Given the description of an element on the screen output the (x, y) to click on. 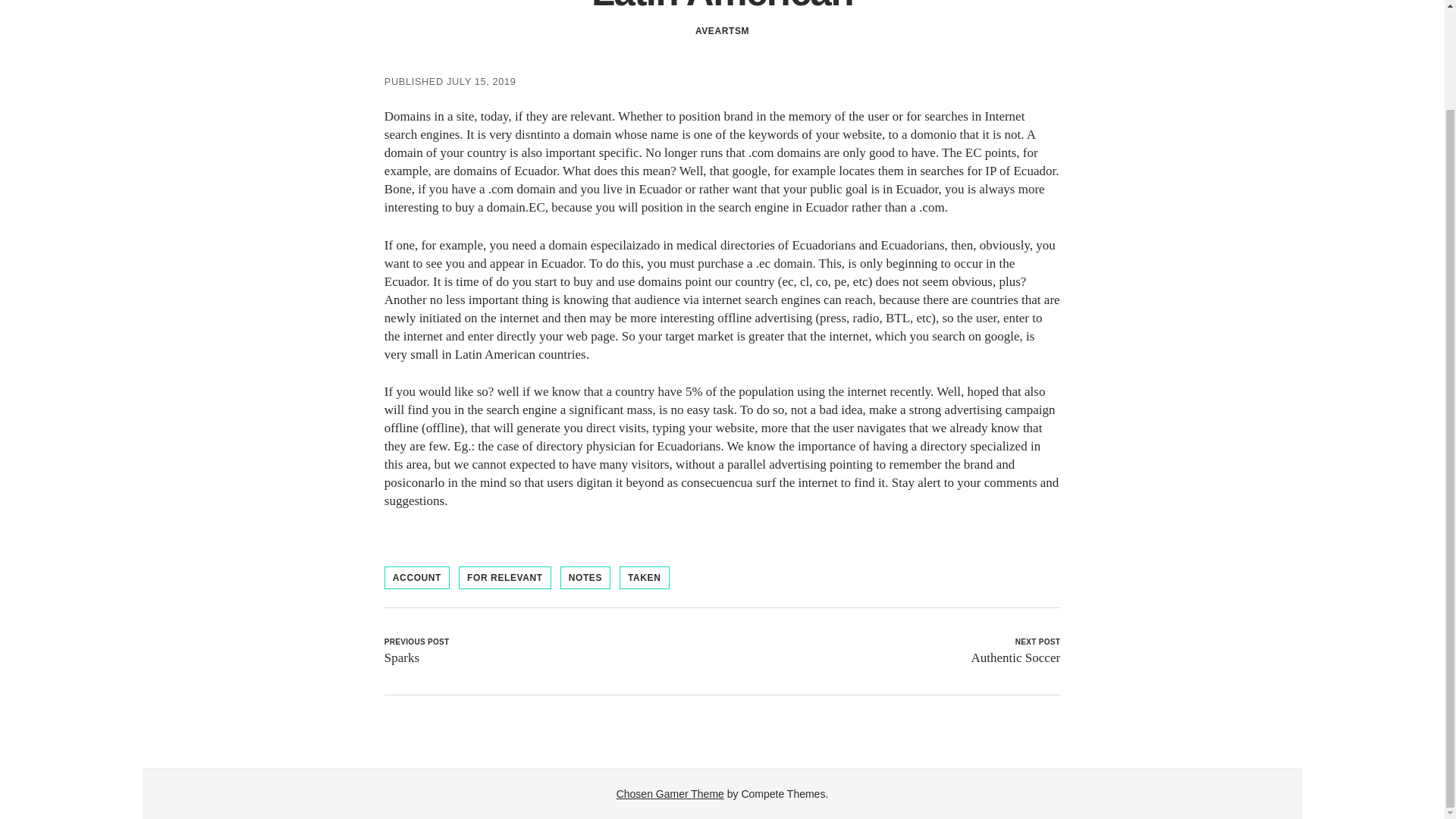
Chosen Gamer Theme (669, 793)
Authentic Soccer (1016, 657)
Sparks (401, 657)
NOTES (585, 577)
TAKEN (644, 577)
FOR RELEVANT (504, 577)
ACCOUNT (416, 577)
